Given the description of an element on the screen output the (x, y) to click on. 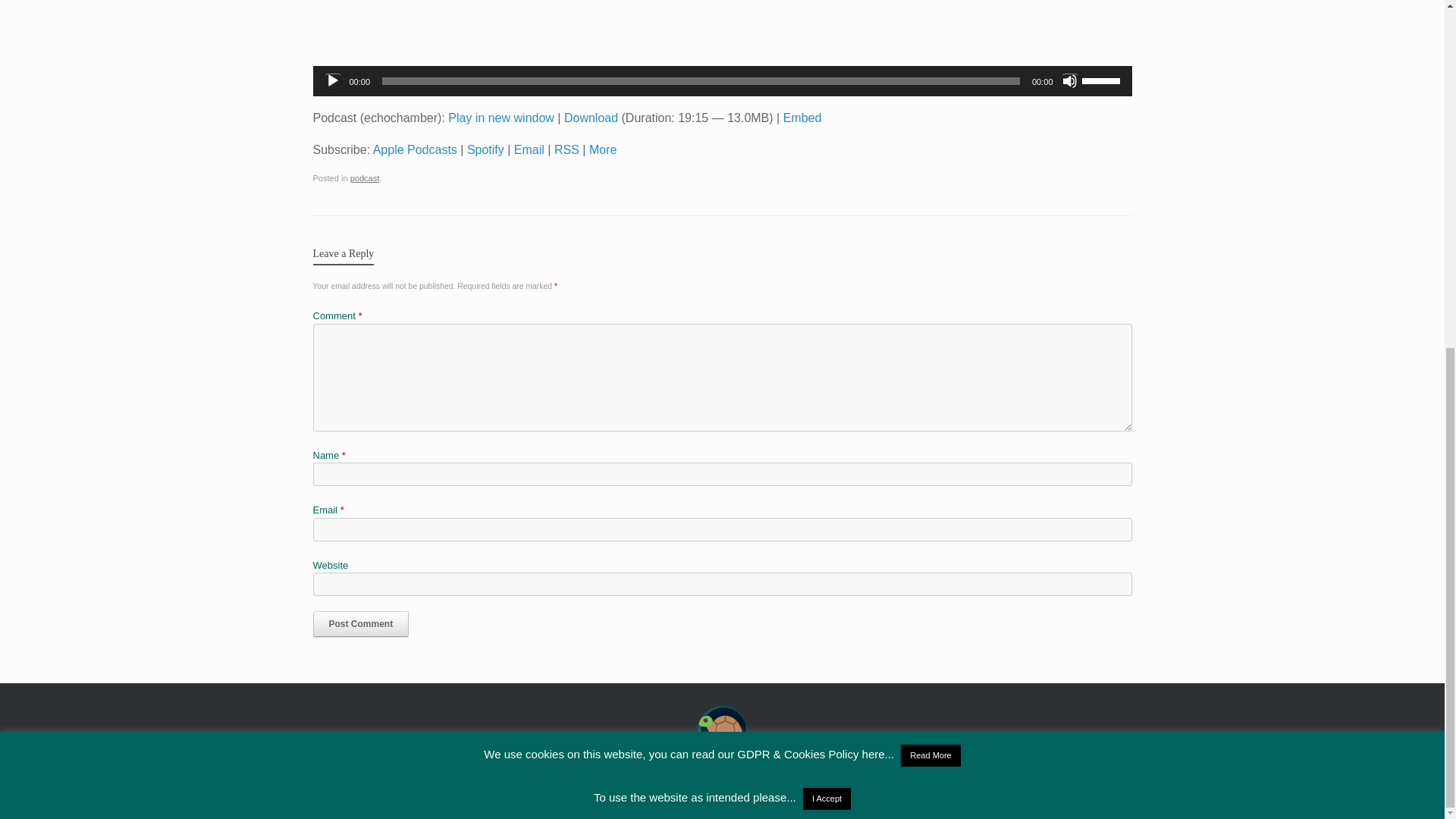
More (602, 149)
More (602, 149)
Apple Podcasts (414, 149)
Post Comment (361, 623)
Subscribe via RSS (566, 149)
Mute (1069, 80)
Subscribe on Apple Podcasts (414, 149)
Subscribe on Spotify (485, 149)
Subscribe by Email (528, 149)
Play in new window (501, 117)
Play in new window (501, 117)
Download (590, 117)
RSS (566, 149)
Embed (802, 117)
Spotify (485, 149)
